Given the description of an element on the screen output the (x, y) to click on. 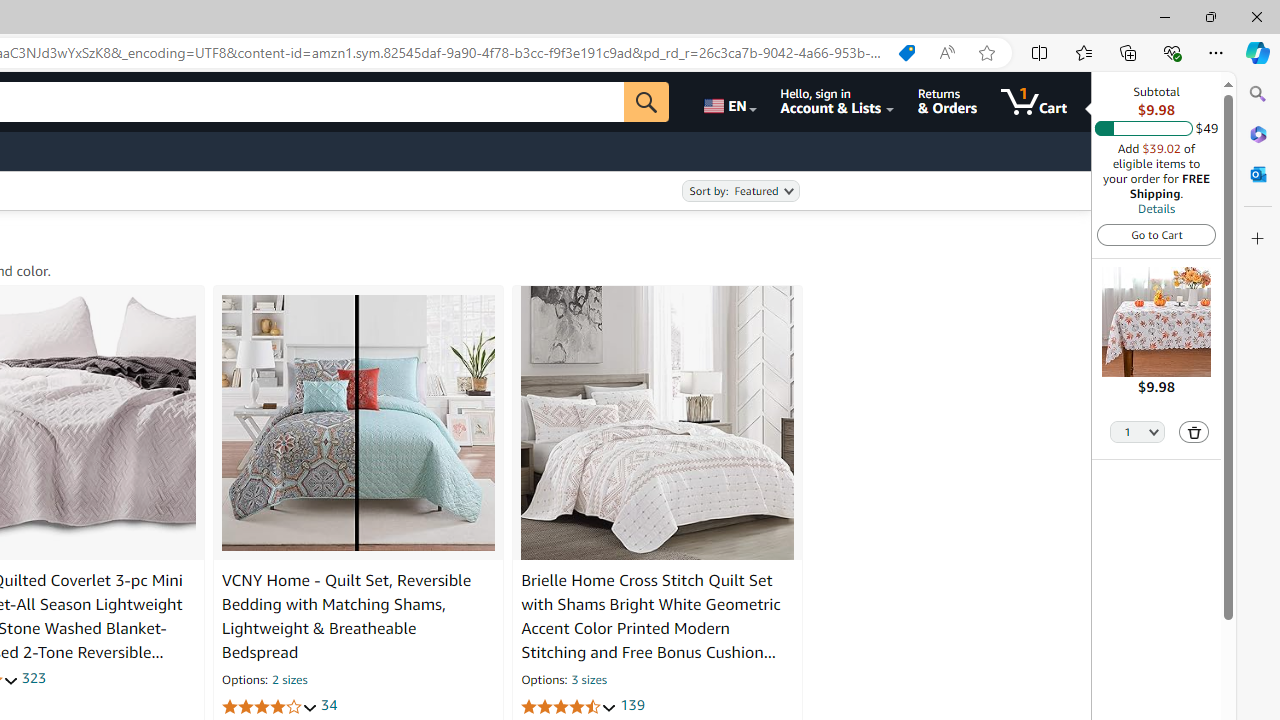
3.9 out of 5 stars (269, 706)
Choose a language for shopping. (728, 101)
3 sizes (588, 681)
2 sizes (289, 681)
34 (328, 705)
